Given the description of an element on the screen output the (x, y) to click on. 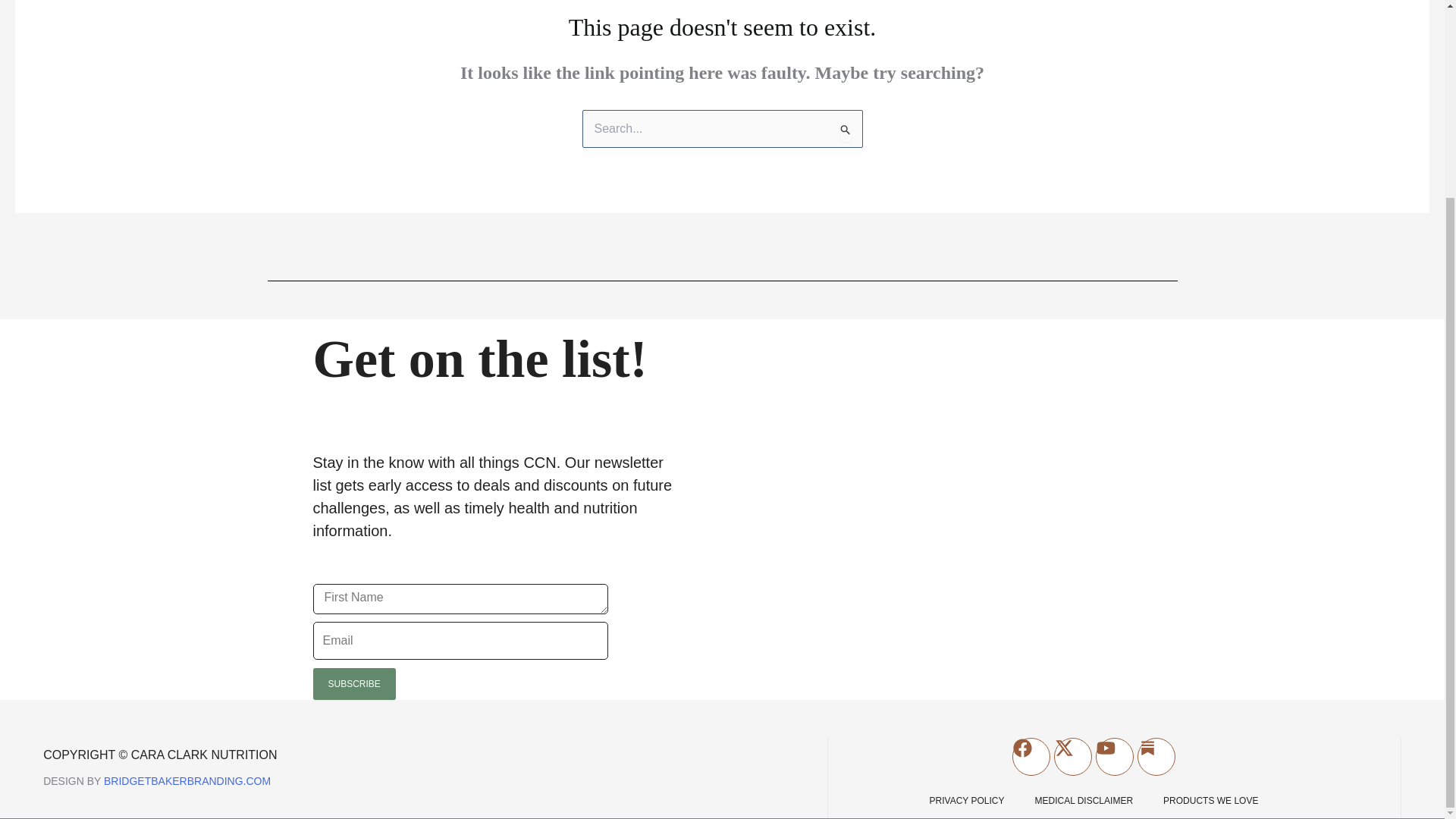
PRIVACY POLICY (967, 800)
X-twitter (1073, 756)
Youtube (1115, 756)
Facebook (1030, 756)
SUBSCRIBE (353, 684)
BRIDGETBAKERBRANDING.COM (186, 780)
PRODUCTS WE LOVE (1210, 800)
MEDICAL DISCLAIMER (1083, 800)
